Given the description of an element on the screen output the (x, y) to click on. 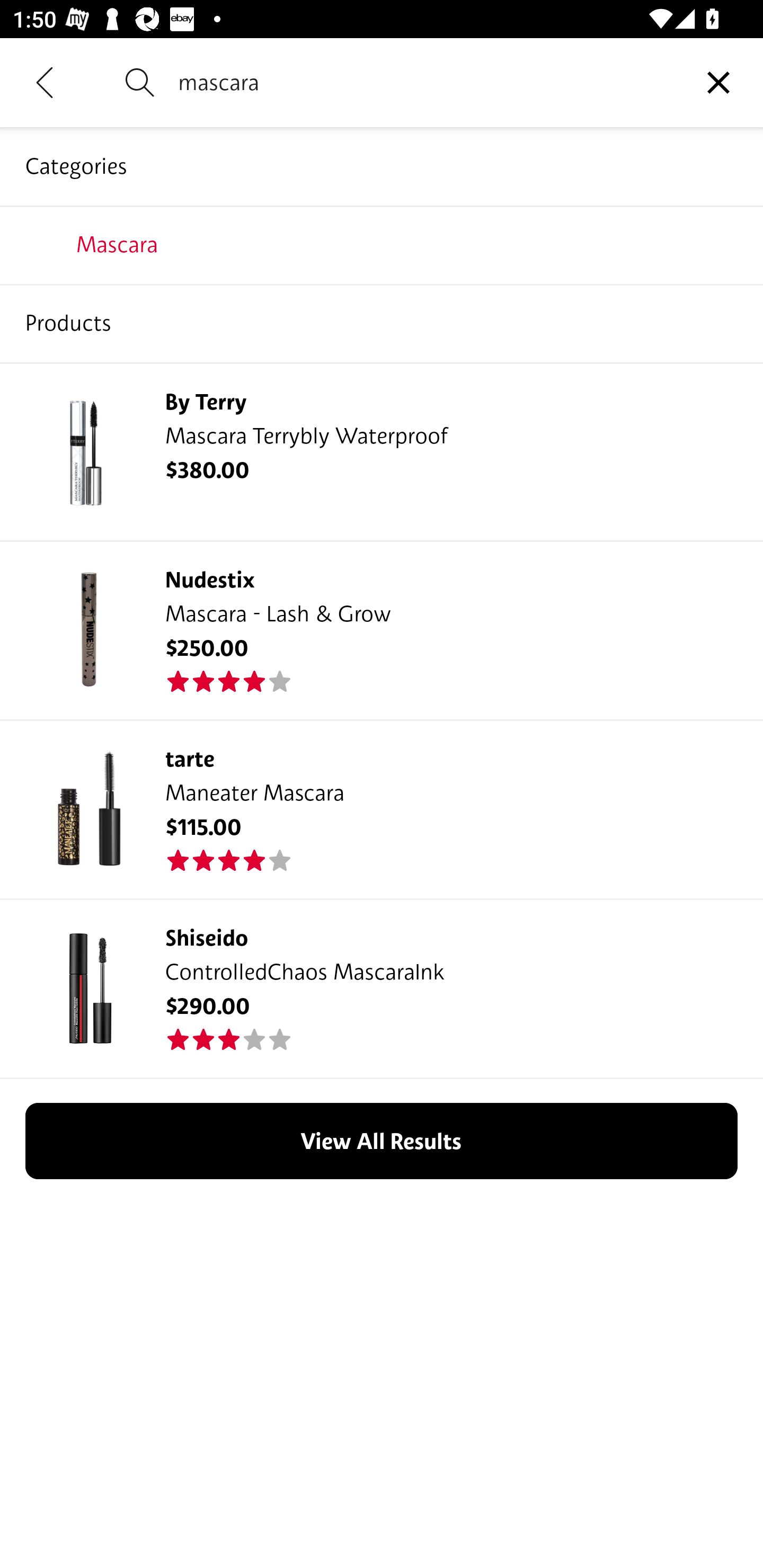
Navigate up (44, 82)
Clear query (718, 81)
mascara (425, 82)
supergoop! (381, 244)
sephora collection (381, 322)
Product Image tarte Maneater Mascara $115.00 (381, 808)
View All Results (381, 1140)
